Given the description of an element on the screen output the (x, y) to click on. 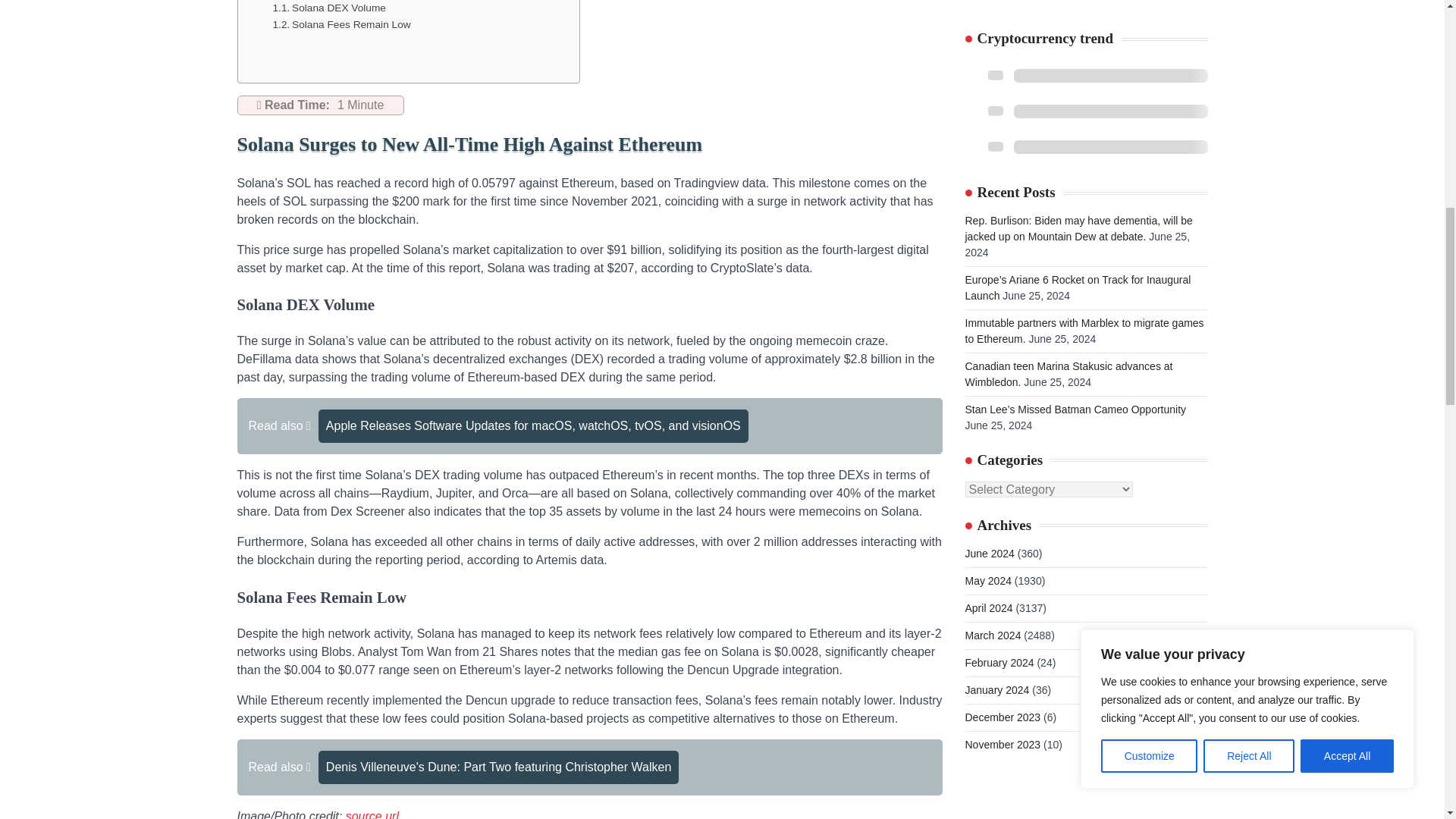
Solana DEX Volume (329, 8)
Solana DEX Volume (329, 8)
Solana Fees Remain Low (341, 24)
Solana Fees Remain Low (341, 24)
